Given the description of an element on the screen output the (x, y) to click on. 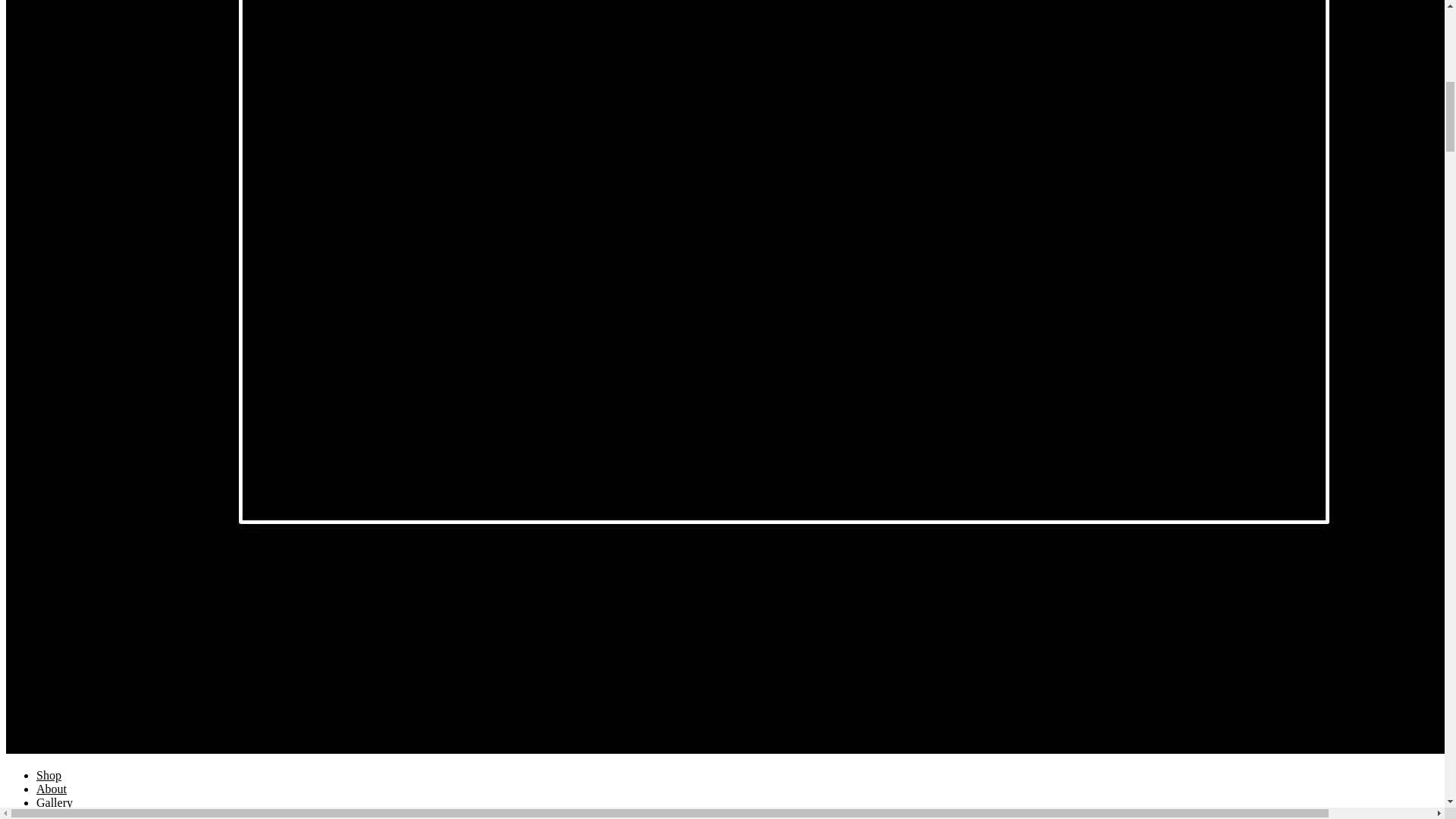
Gallery (54, 802)
Shop (48, 775)
About (51, 788)
